Given the description of an element on the screen output the (x, y) to click on. 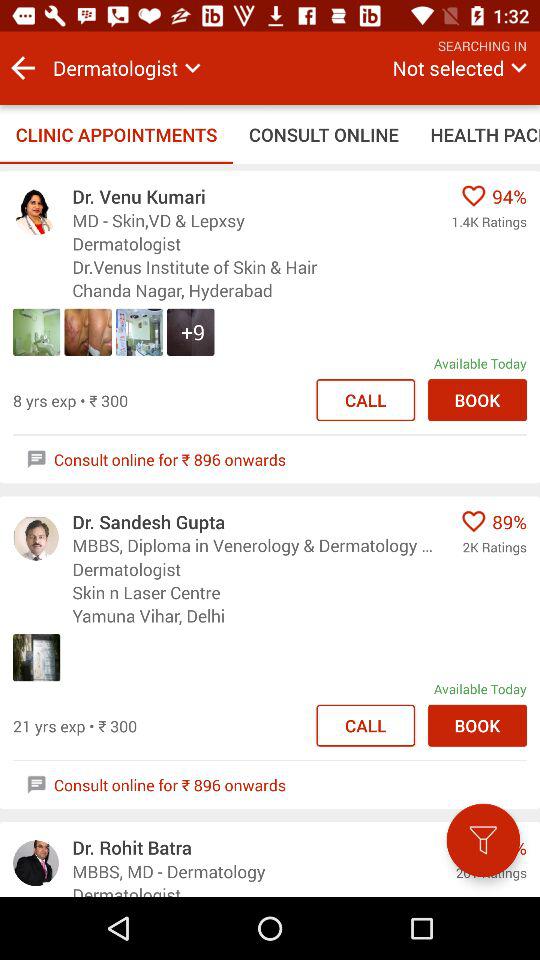
go back (23, 68)
